Given the description of an element on the screen output the (x, y) to click on. 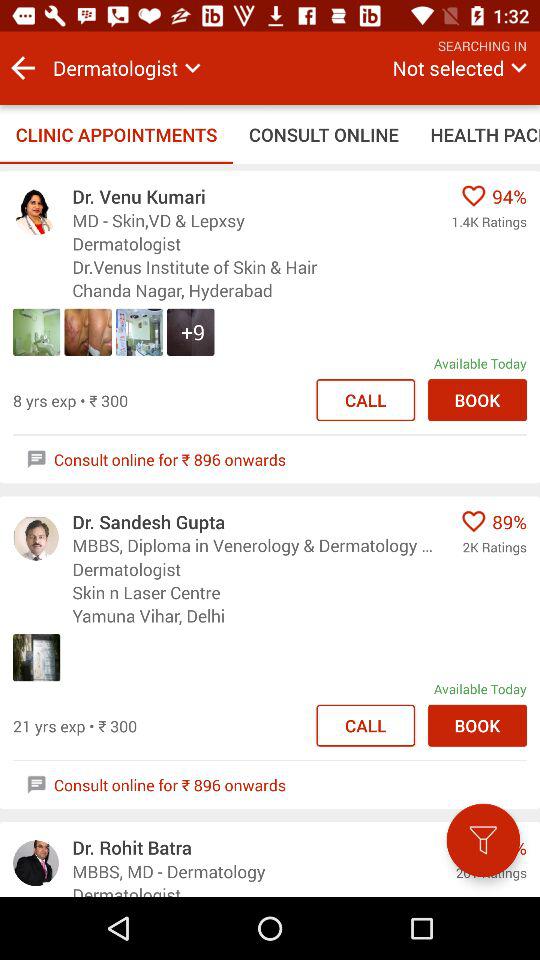
go back (23, 68)
